Given the description of an element on the screen output the (x, y) to click on. 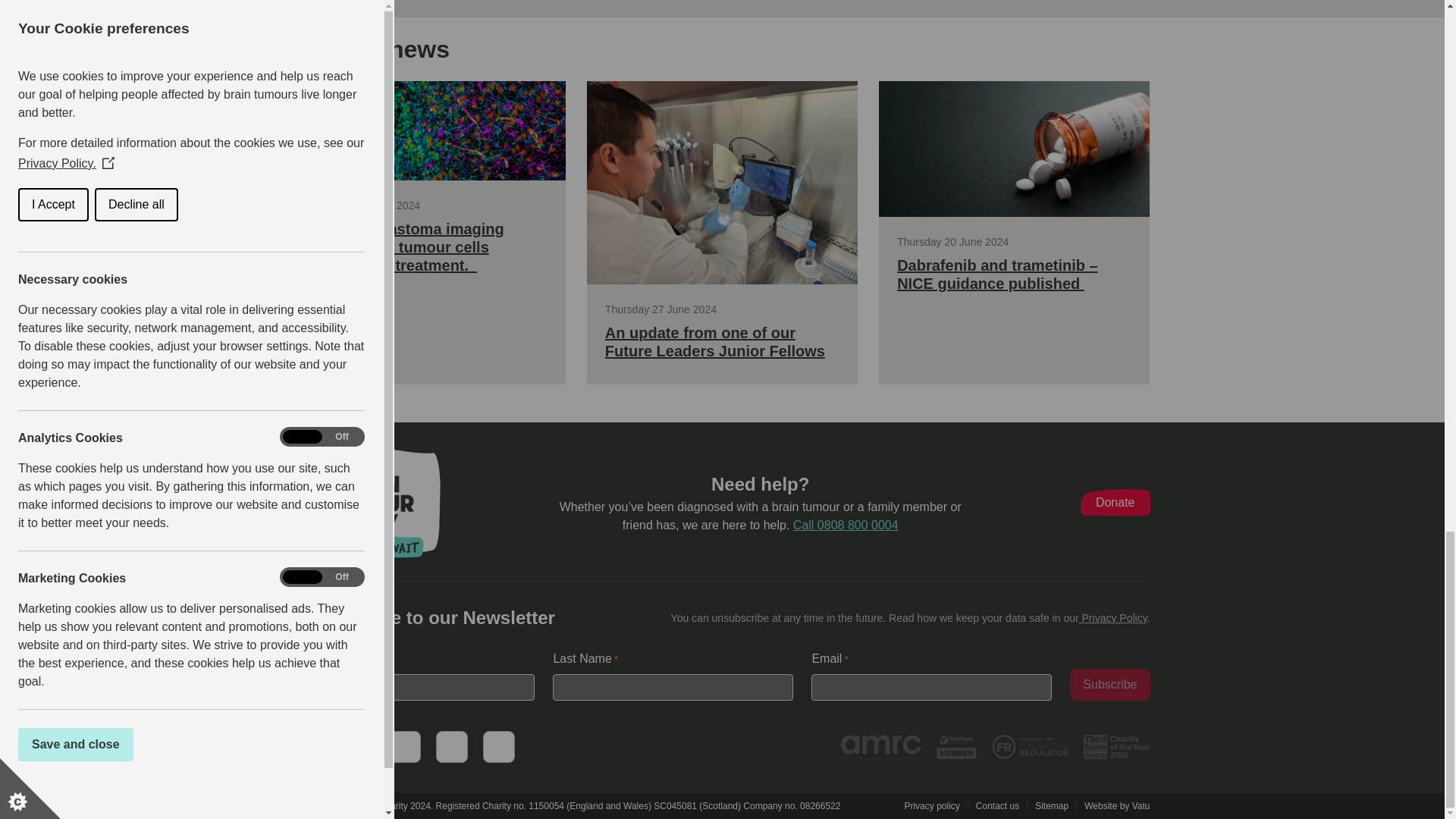
Subscribe (1110, 685)
Instagram (497, 746)
Facebook (310, 746)
Twitter (356, 746)
YouTube (404, 746)
Tiktok (451, 746)
